Given the description of an element on the screen output the (x, y) to click on. 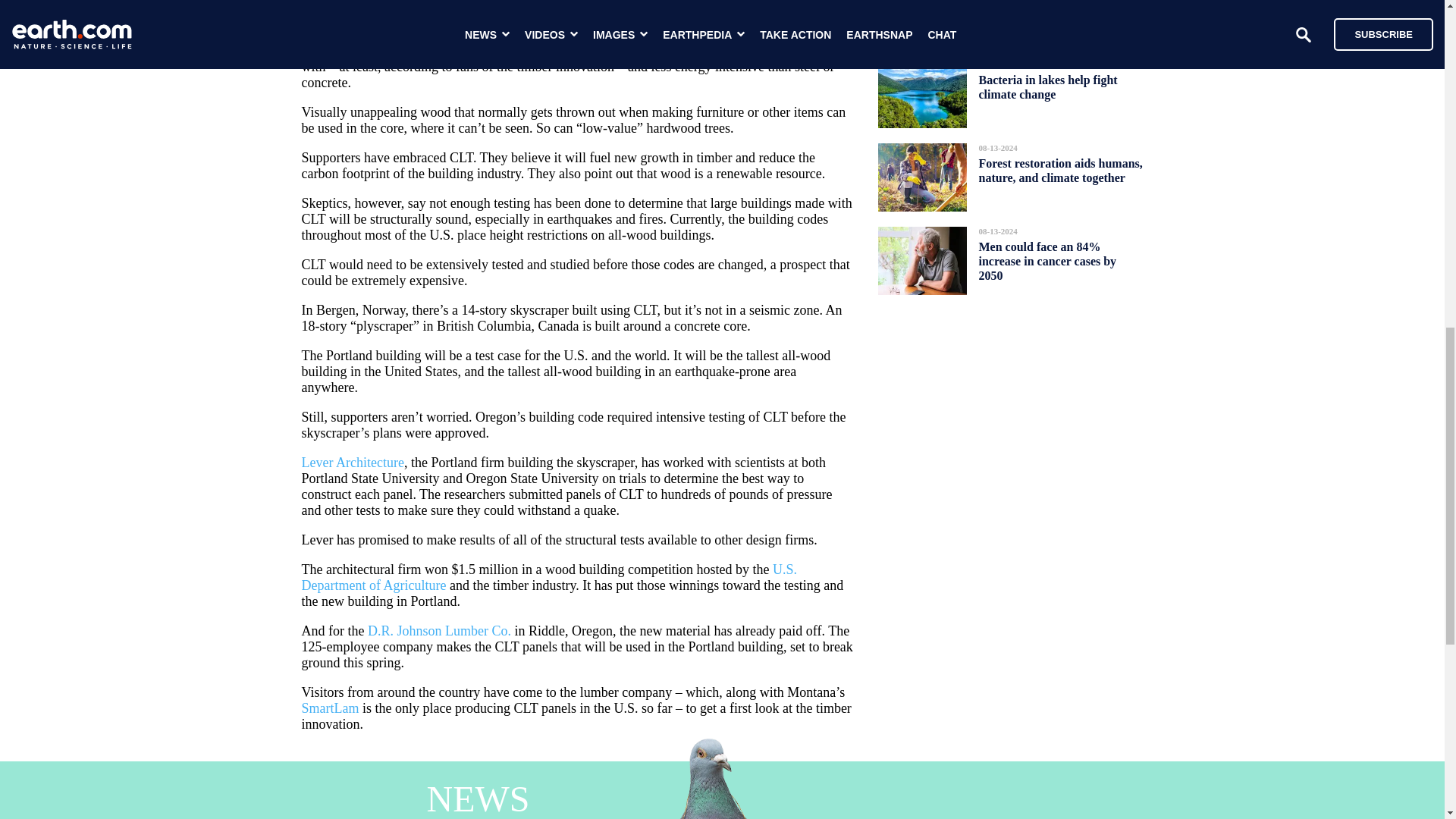
Lever Architecture (352, 462)
SmartLam (330, 708)
Forest restoration aids humans, nature, and climate together (1059, 170)
Bacteria in lakes help fight climate change (1047, 87)
U.S. Department of Agriculture (548, 576)
Bird feeding pollutes local ecosystems (1045, 12)
D.R. Johnson Lumber Co. (439, 630)
